Given the description of an element on the screen output the (x, y) to click on. 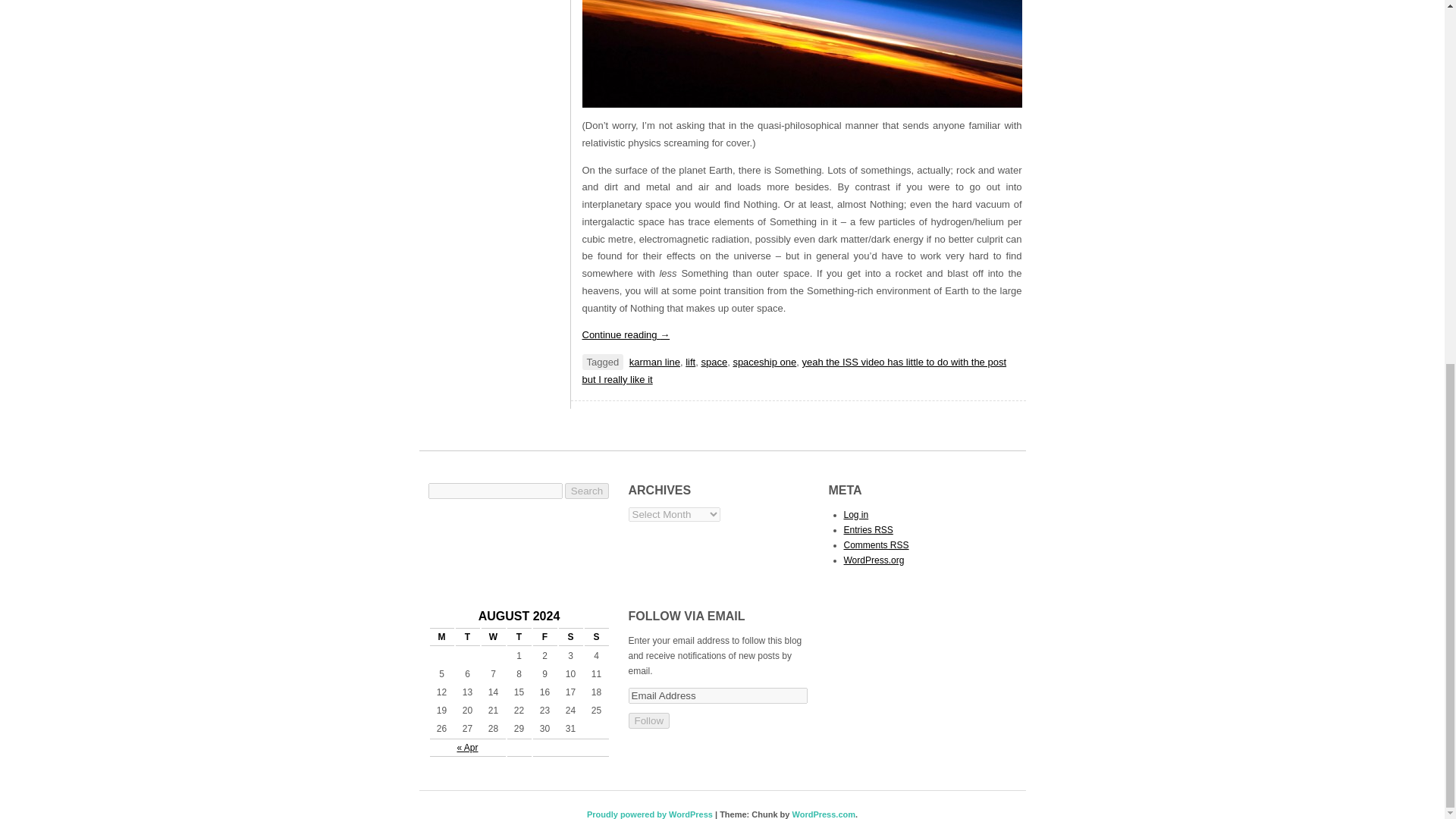
WordPress.org (873, 560)
Really Simple Syndication (884, 529)
Wednesday (492, 637)
Email Address (716, 694)
karman line (653, 361)
Search (586, 489)
Follow (648, 720)
Search (586, 489)
Really Simple Syndication (898, 544)
Log in (855, 514)
Tuesday (466, 637)
The latest comments to all posts in RSS (875, 544)
space (713, 361)
Follow (648, 720)
